Given the description of an element on the screen output the (x, y) to click on. 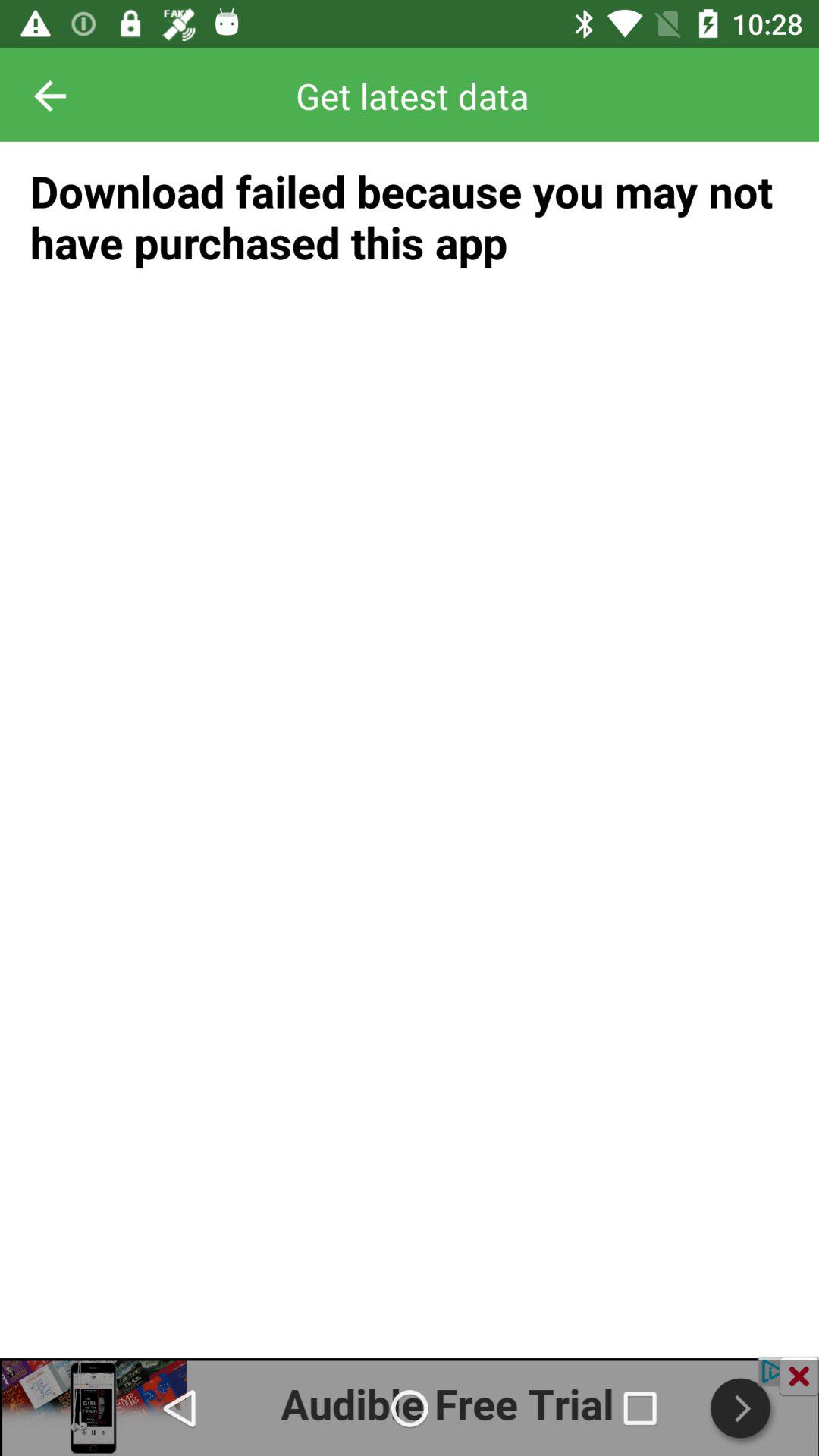
advertisement (409, 1406)
